Given the description of an element on the screen output the (x, y) to click on. 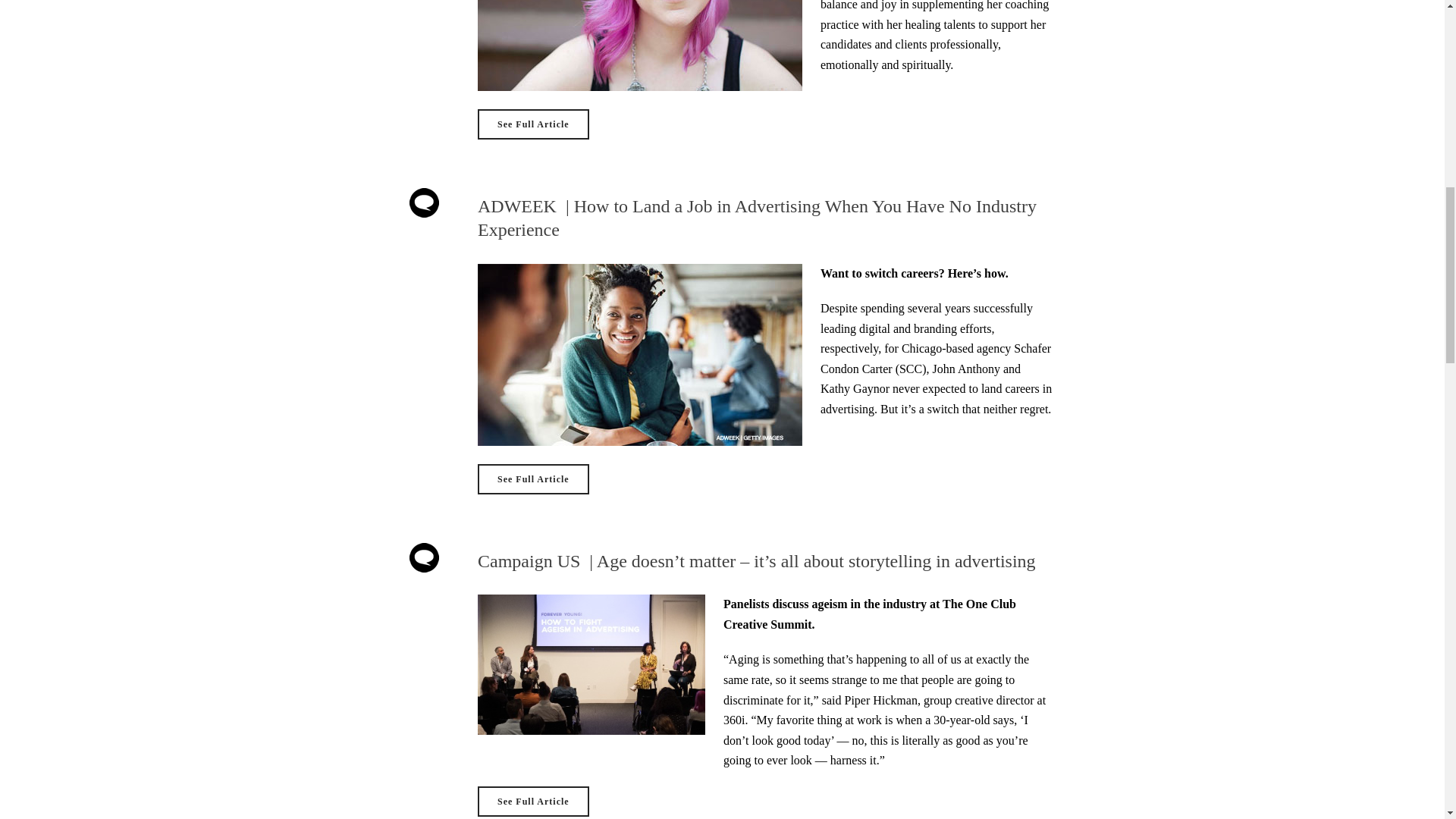
See Full Article (533, 123)
See Full Article (533, 801)
See Full Article (533, 123)
See Full Article (533, 801)
See Full Article (533, 479)
See Full Article (533, 479)
